Given the description of an element on the screen output the (x, y) to click on. 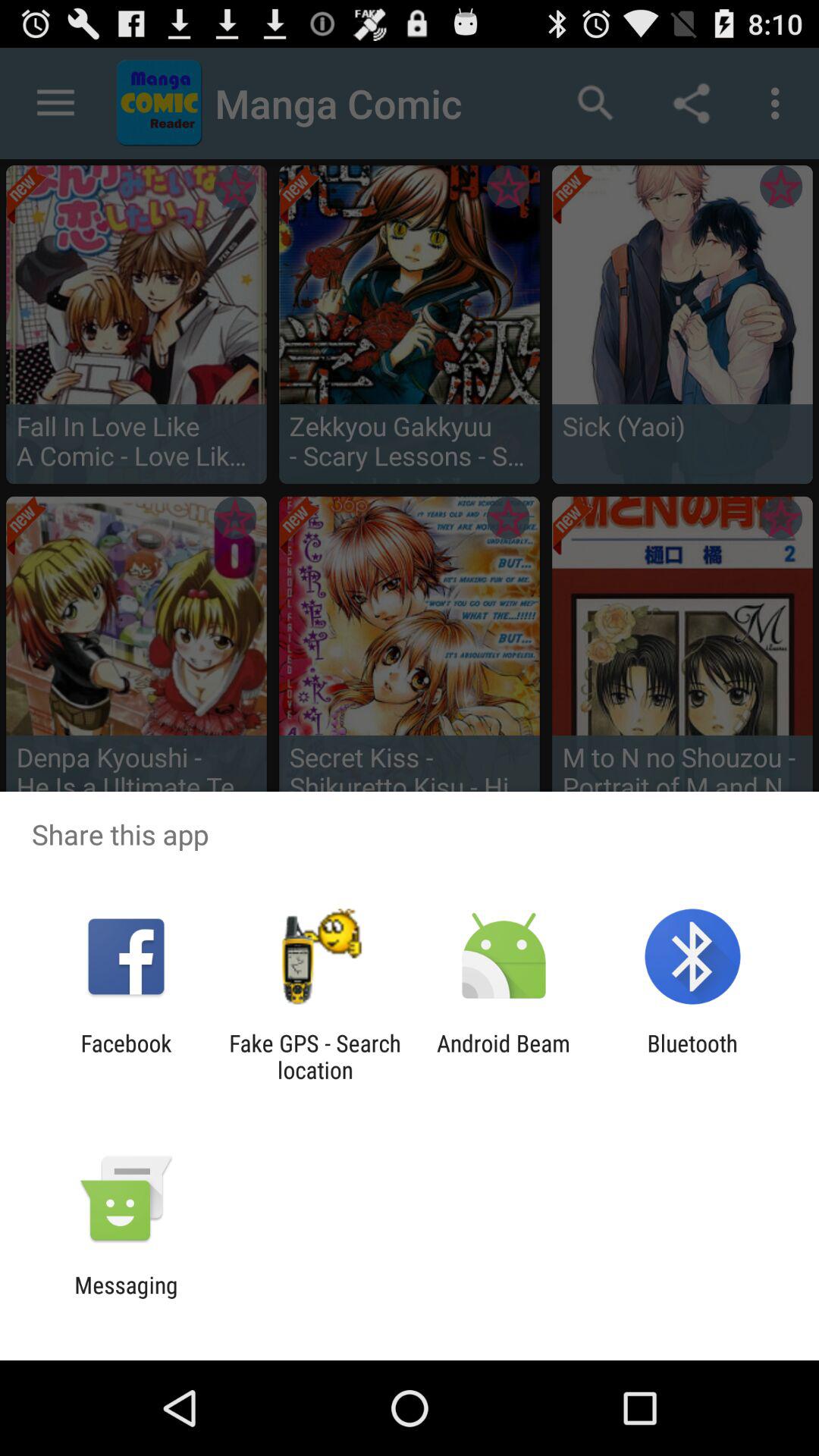
tap icon to the right of the android beam icon (692, 1056)
